Given the description of an element on the screen output the (x, y) to click on. 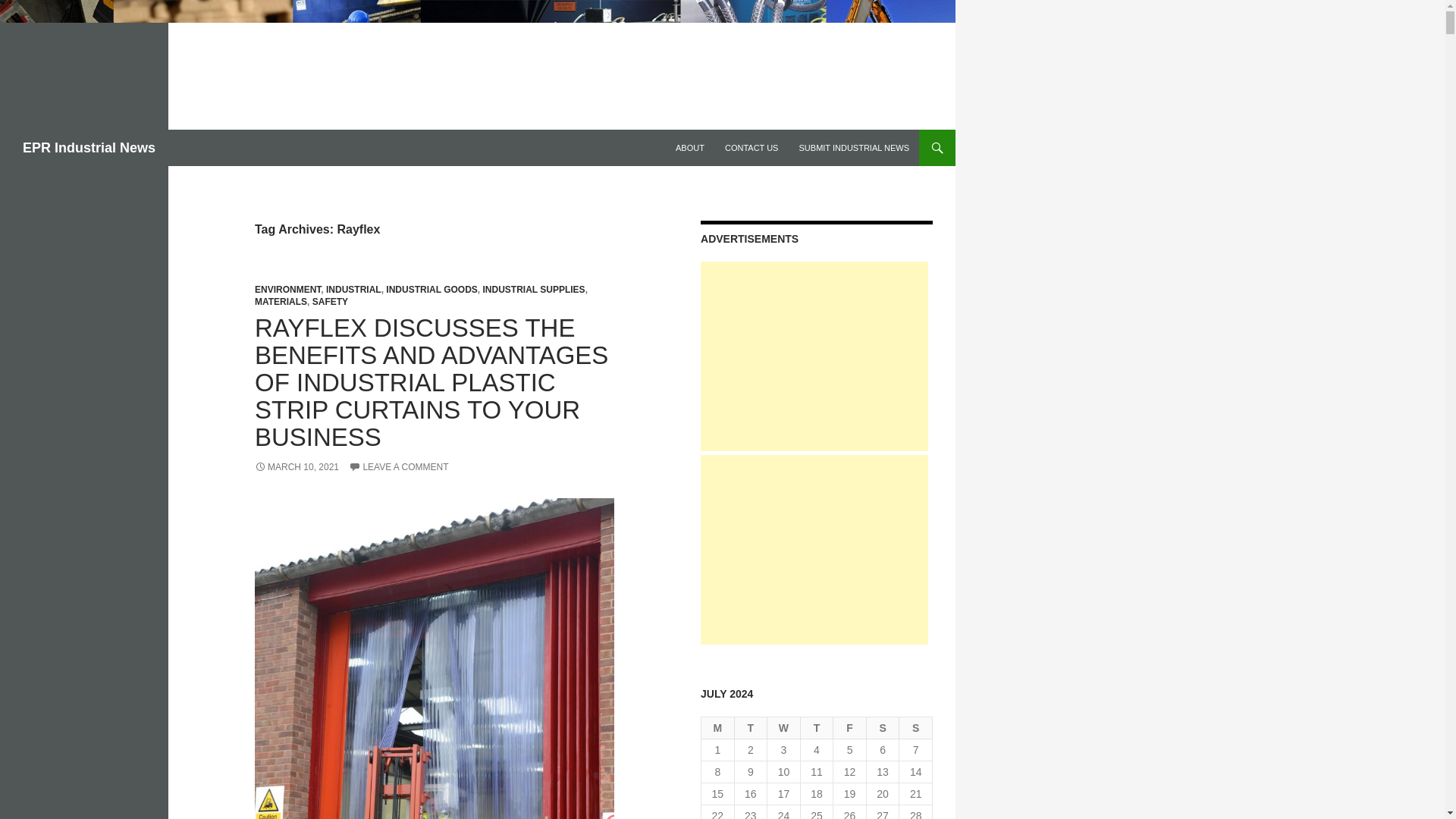
INDUSTRIAL SUPPLIES (533, 289)
ABOUT (689, 147)
Friday (849, 728)
Tuesday (751, 728)
LEAVE A COMMENT (398, 466)
MARCH 10, 2021 (296, 466)
Sunday (916, 728)
ENVIRONMENT (287, 289)
SUBMIT INDUSTRIAL NEWS (854, 147)
MATERIALS (280, 301)
Wednesday (783, 728)
Thursday (817, 728)
Monday (718, 728)
